Given the description of an element on the screen output the (x, y) to click on. 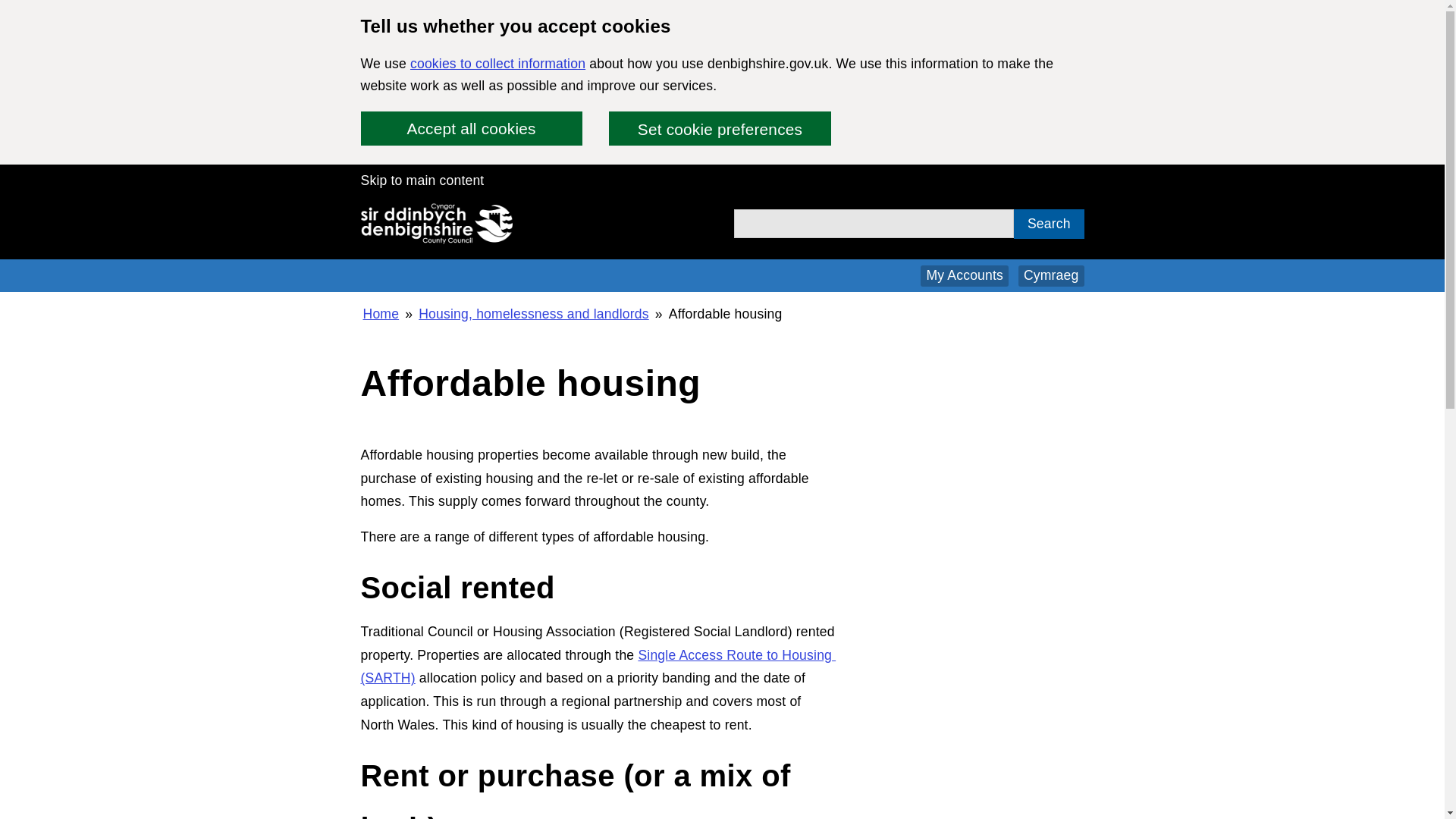
Housing, homelessness and landlords (533, 313)
My Accounts (964, 275)
Home (380, 313)
Skip to main content (422, 180)
Cymraeg (1050, 275)
Set cookie preferences (718, 128)
Search (1048, 224)
cookies to collect information (497, 63)
Accept all cookies (471, 128)
